Given the description of an element on the screen output the (x, y) to click on. 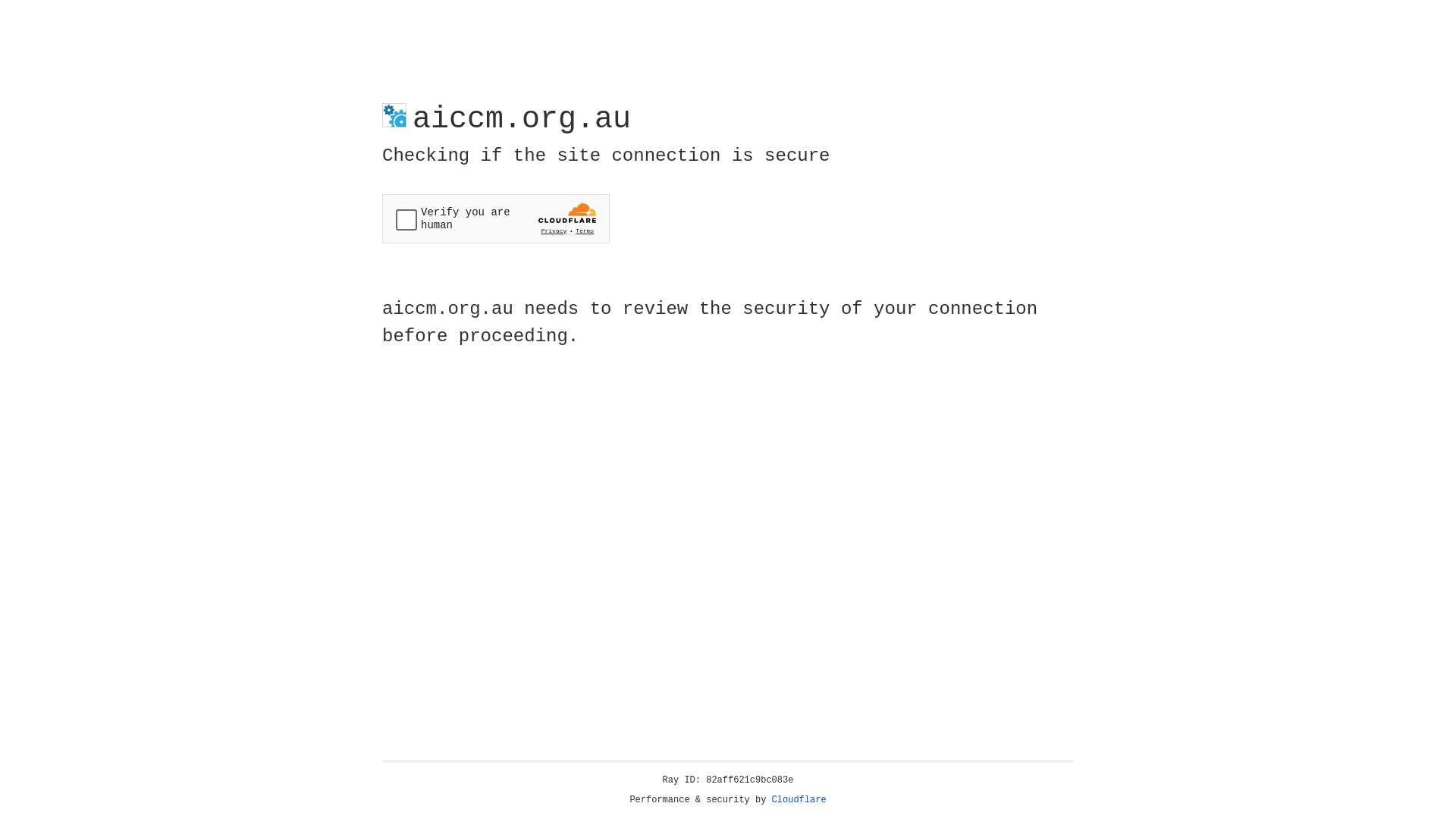
Widget containing a Cloudflare security challenge Element type: hover (495, 218)
Cloudflare Element type: text (798, 799)
